Given the description of an element on the screen output the (x, y) to click on. 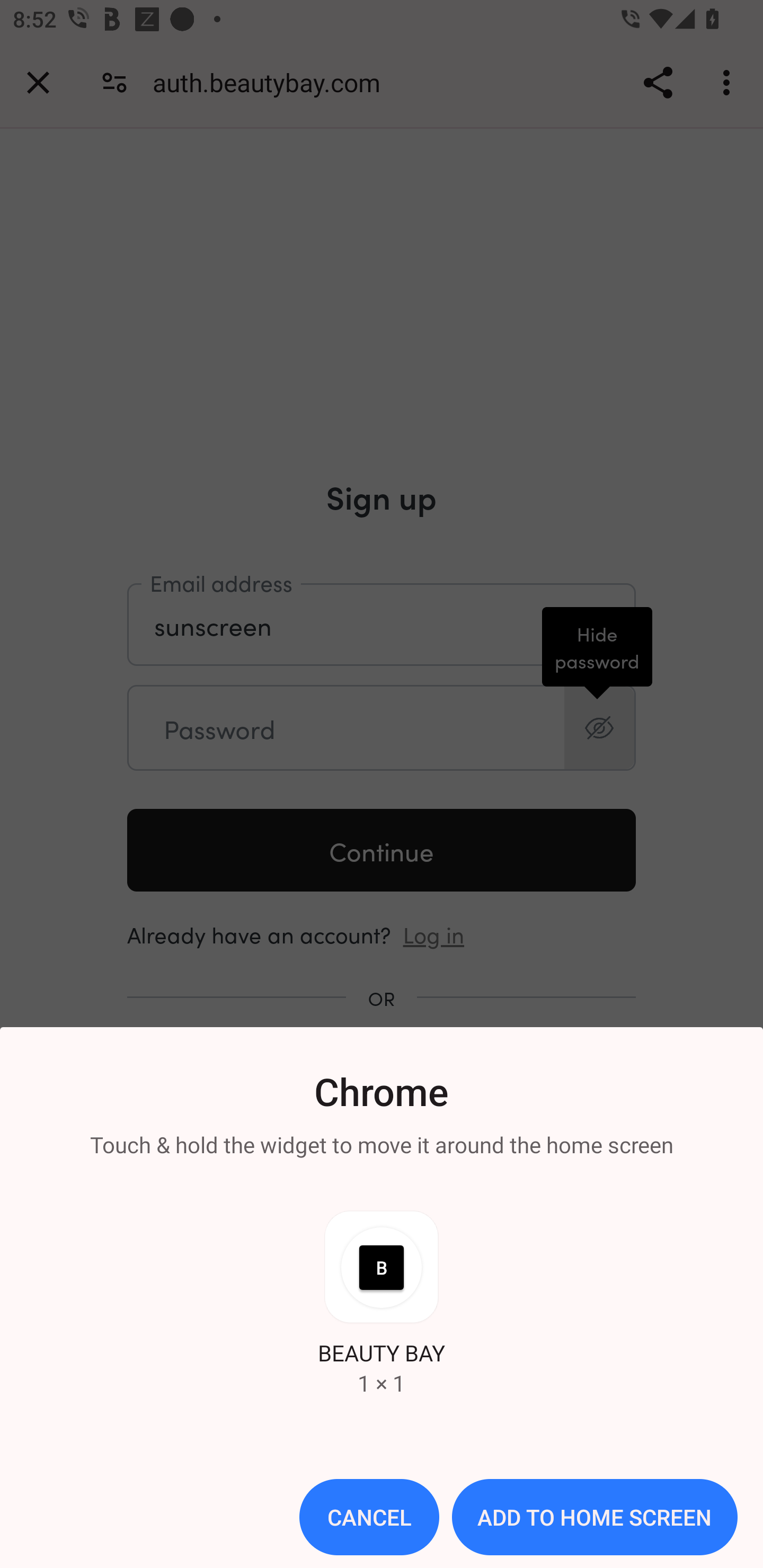
CANCEL (369, 1516)
ADD TO HOME SCREEN (594, 1516)
